Given the description of an element on the screen output the (x, y) to click on. 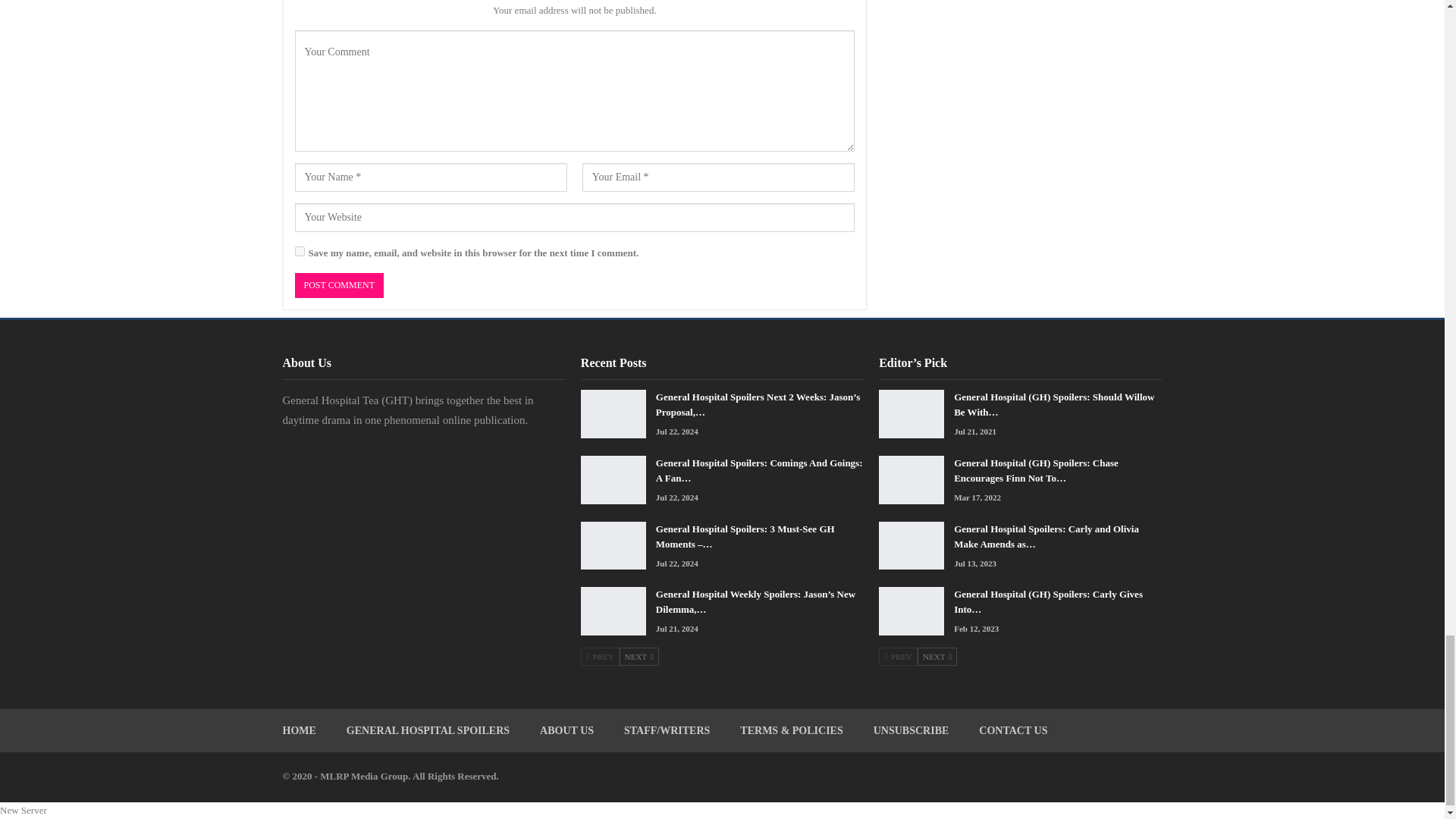
yes (299, 251)
Post Comment (338, 285)
